Given the description of an element on the screen output the (x, y) to click on. 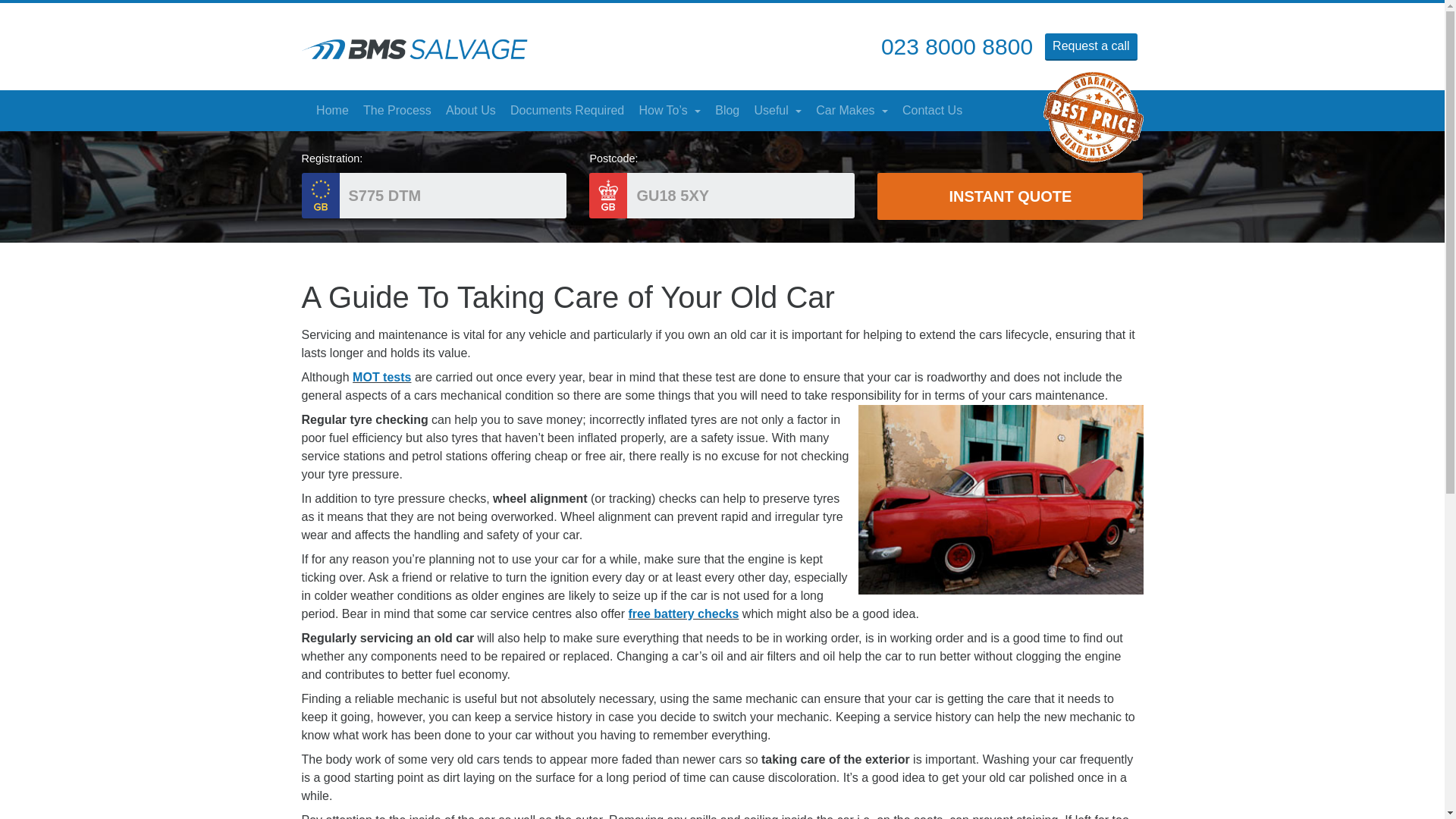
Useful (777, 110)
Documents Required (566, 110)
Useful (777, 110)
Blog (726, 110)
Home (332, 110)
About Us (470, 110)
023 8000 8800 (956, 44)
How To's (669, 110)
Blog (726, 110)
Contact Us (932, 110)
Home (332, 110)
About Us (470, 110)
Documents Required (566, 110)
BMS Salvage (414, 49)
The Process (396, 110)
